Given the description of an element on the screen output the (x, y) to click on. 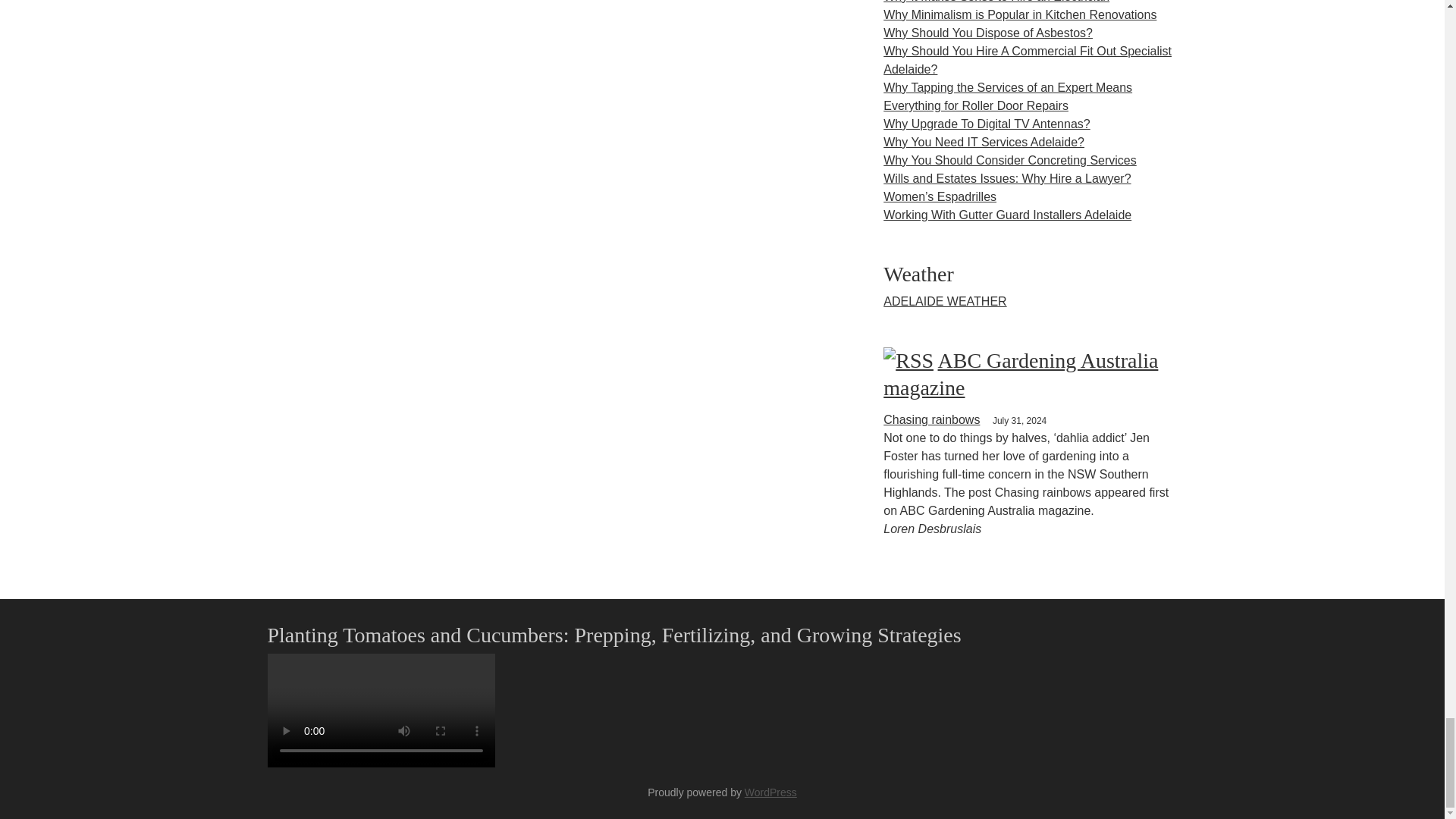
Semantic Personal Publishing Platform (770, 792)
